Given the description of an element on the screen output the (x, y) to click on. 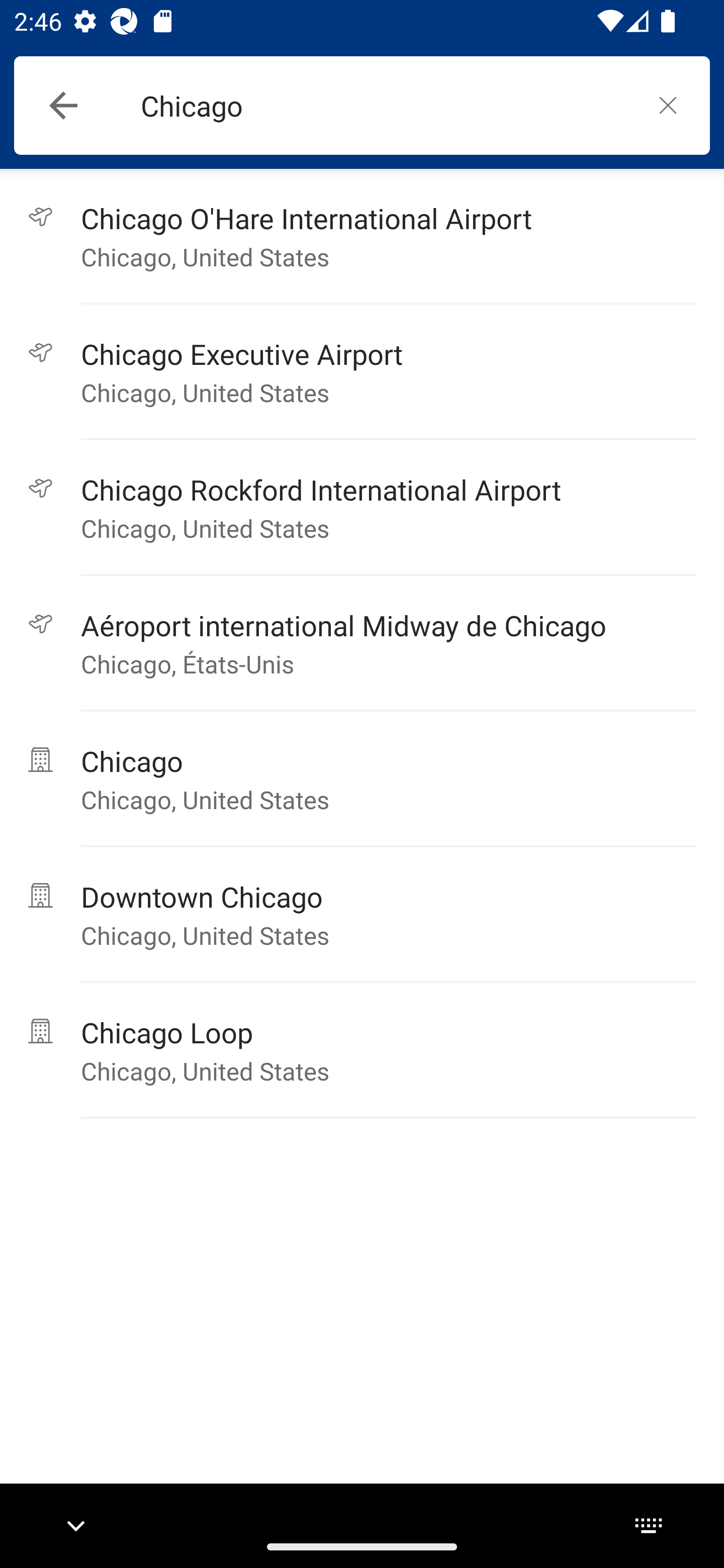
Navigate up (62, 105)
놕 (667, 104)
Chicago (382, 105)
끭 Chicago Executive Airport Chicago, United States (362, 372)
넭 Chicago Chicago, United States (362, 778)
넭 Downtown Chicago Chicago, United States (362, 914)
넭 Chicago Loop Chicago, United States (362, 1050)
